Given the description of an element on the screen output the (x, y) to click on. 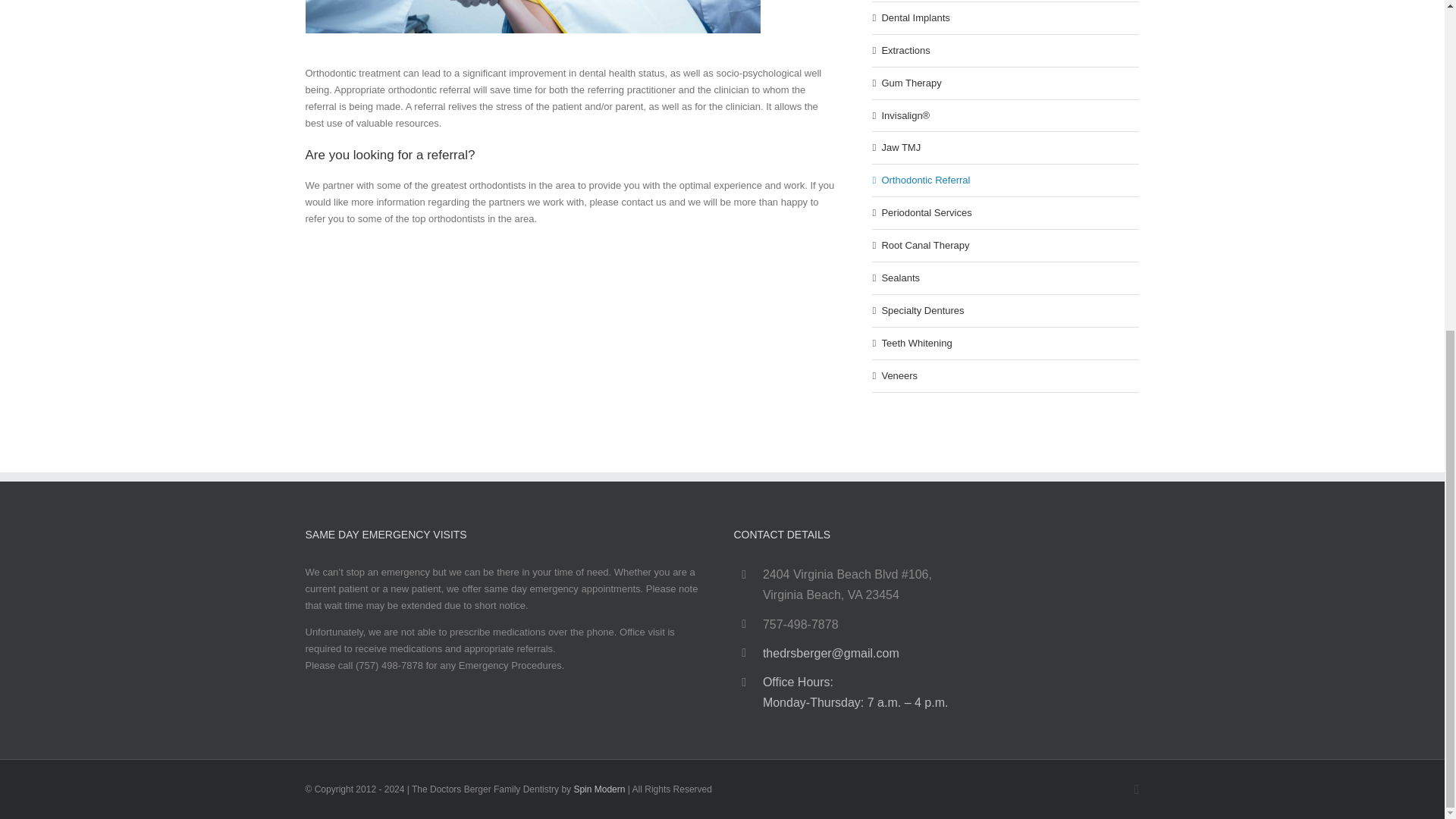
Orthodontic Referral (924, 179)
Jaw TMJ (900, 147)
Extractions (905, 50)
Dental Implants (914, 17)
Gum Therapy (910, 82)
Periodontal Services (925, 212)
